Given the description of an element on the screen output the (x, y) to click on. 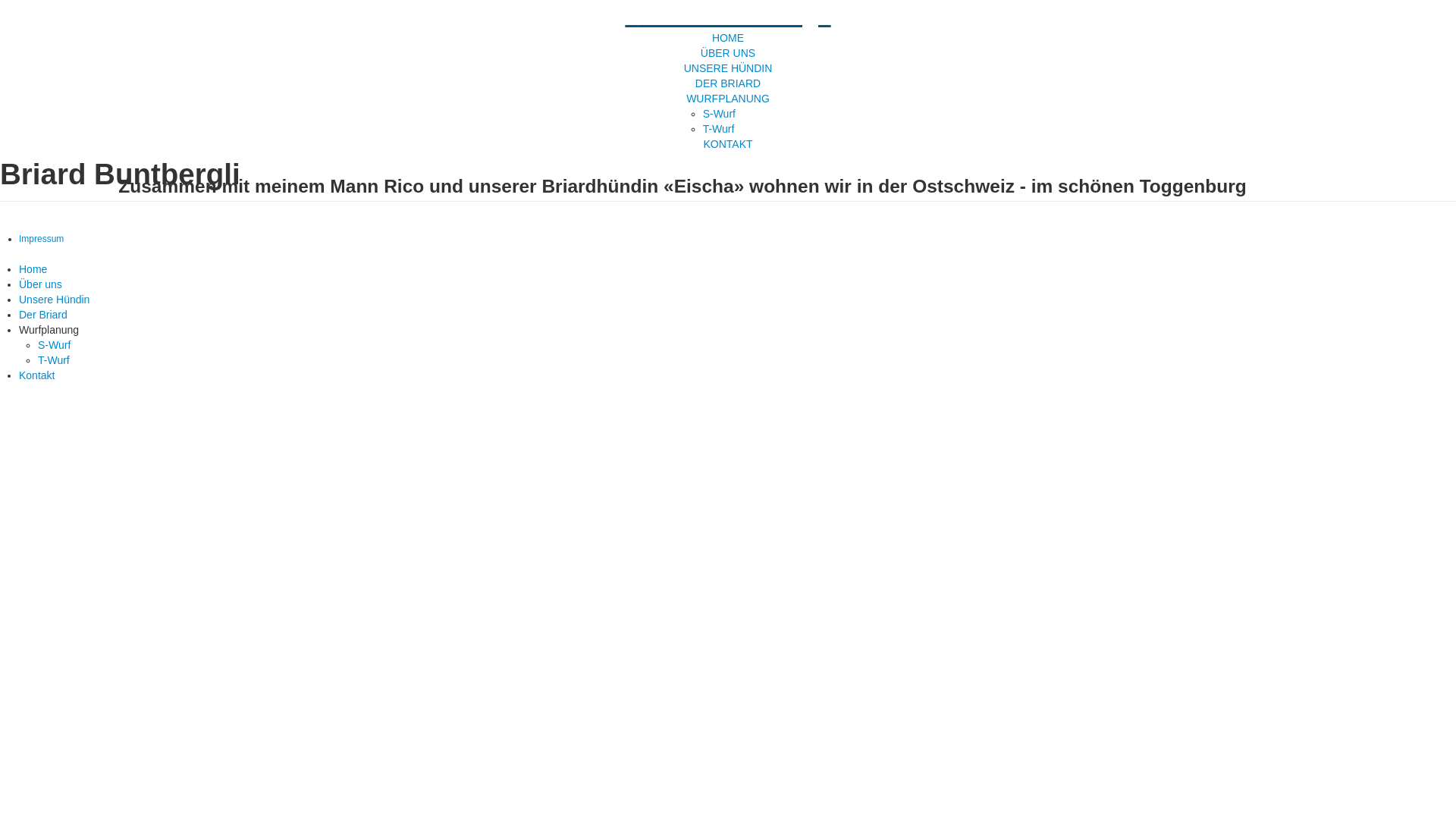
Der Briard Element type: text (42, 314)
Home Element type: text (32, 269)
T-Wurf Element type: text (718, 128)
KONTAKT Element type: text (727, 144)
S-Wurf Element type: text (718, 113)
HOME Element type: text (727, 37)
Impressum Element type: text (40, 238)
Kontakt Element type: text (36, 375)
DER BRIARD Element type: text (727, 83)
WURFPLANUNG Element type: text (727, 98)
S-Wurf Element type: text (53, 344)
T-Wurf Element type: text (53, 360)
